Given the description of an element on the screen output the (x, y) to click on. 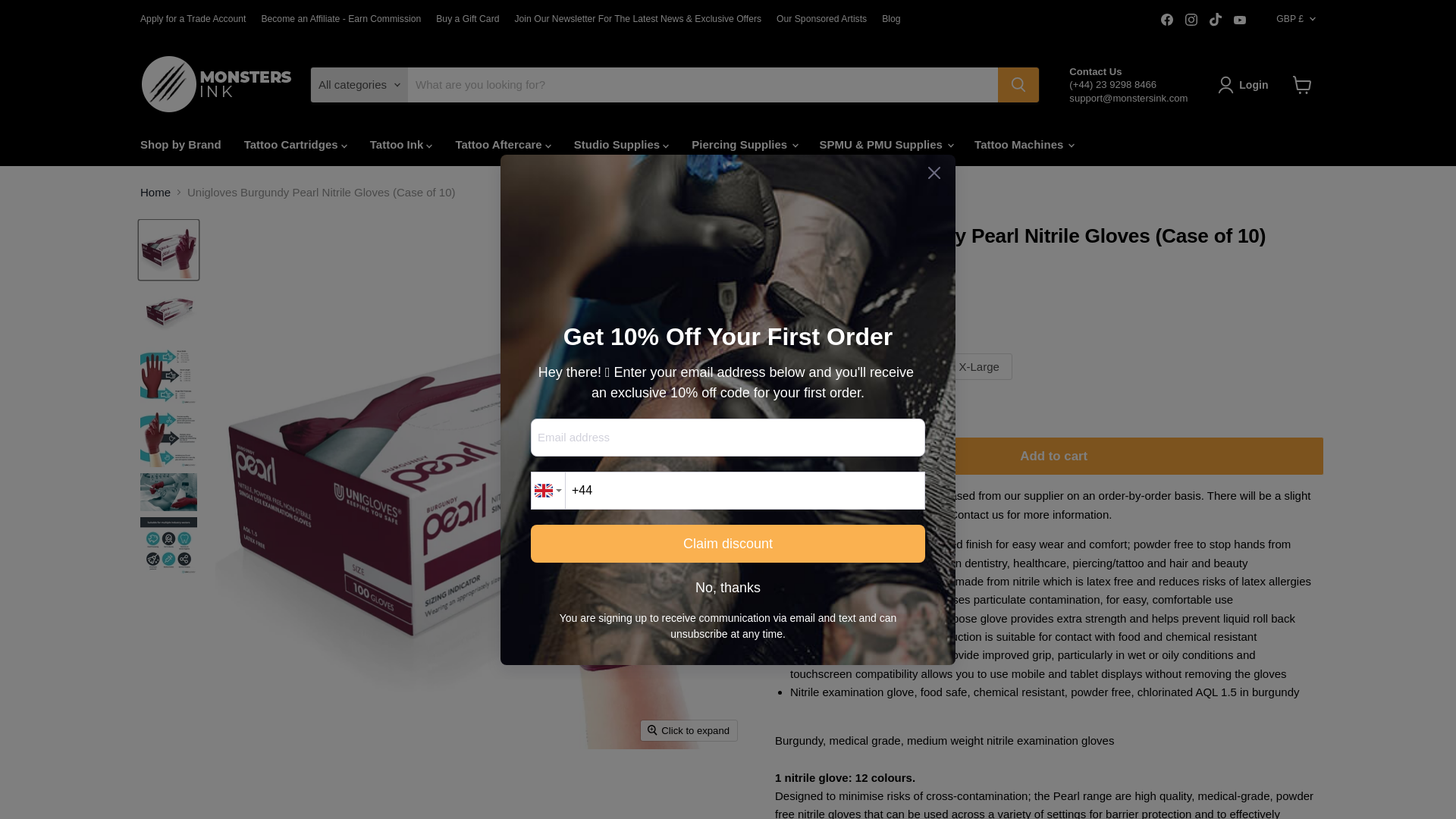
Shop by Brand (180, 143)
YouTube (1239, 19)
Login (1245, 85)
TikTok (1215, 19)
Facebook (1166, 19)
Apply for a Trade Account (192, 18)
Find us on YouTube (1239, 19)
Find us on Instagram (1191, 19)
Become an Affiliate - Earn Commission (340, 18)
Buy a Gift Card (467, 18)
